Given the description of an element on the screen output the (x, y) to click on. 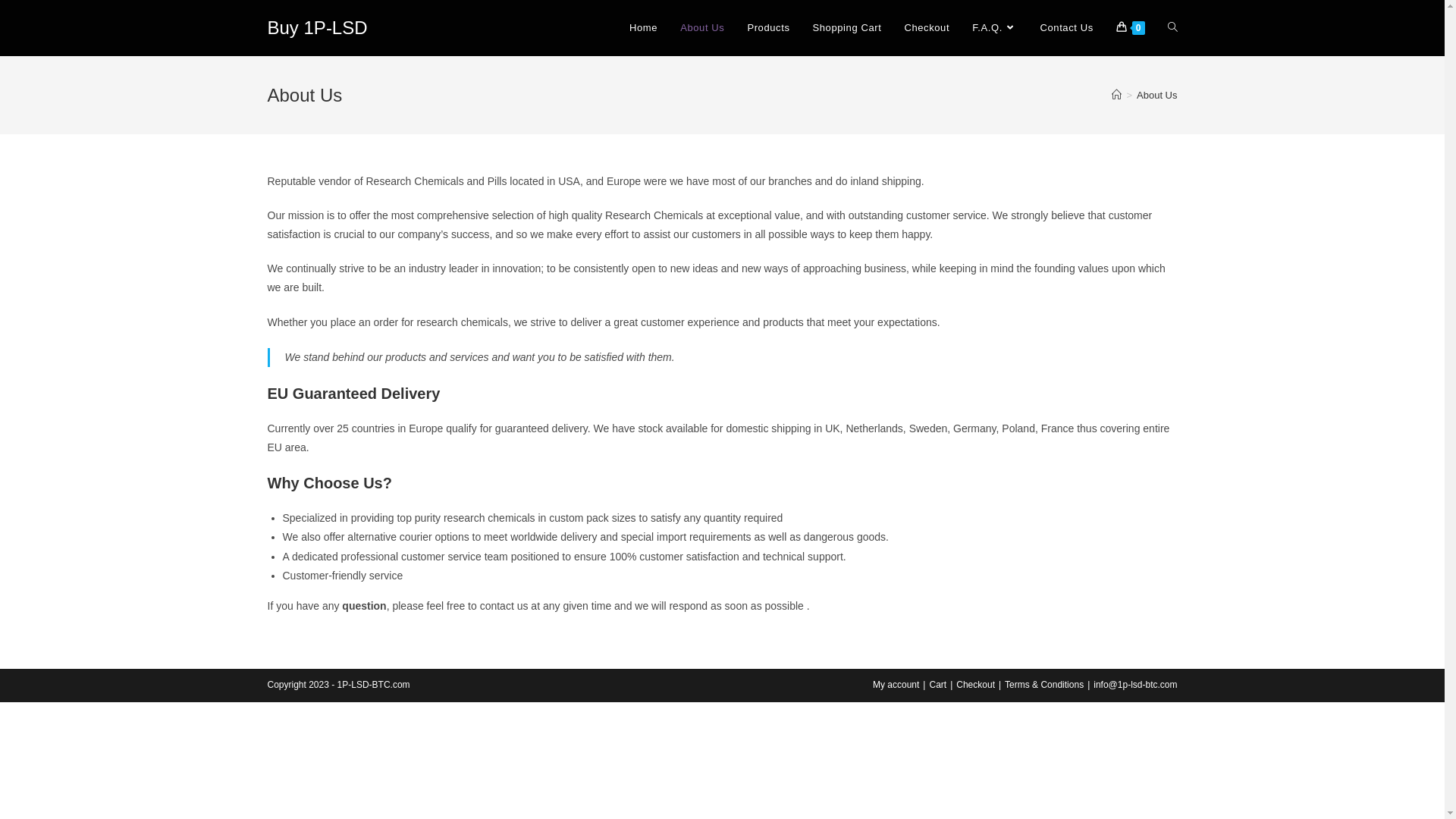
Toggle website search Element type: text (1171, 28)
F.A.Q. Element type: text (994, 28)
info@1p-lsd-btc.com Element type: text (1134, 684)
Home Element type: text (643, 28)
About Us Element type: text (1156, 94)
0 Element type: text (1130, 28)
About Us Element type: text (701, 28)
Buy 1P-LSD Element type: text (316, 27)
Products Element type: text (767, 28)
Terms & Conditions Element type: text (1043, 684)
Checkout Element type: text (975, 684)
Cart Element type: text (937, 684)
Checkout Element type: text (926, 28)
My account Element type: text (895, 684)
Contact Us Element type: text (1066, 28)
Shopping Cart Element type: text (847, 28)
